Given the description of an element on the screen output the (x, y) to click on. 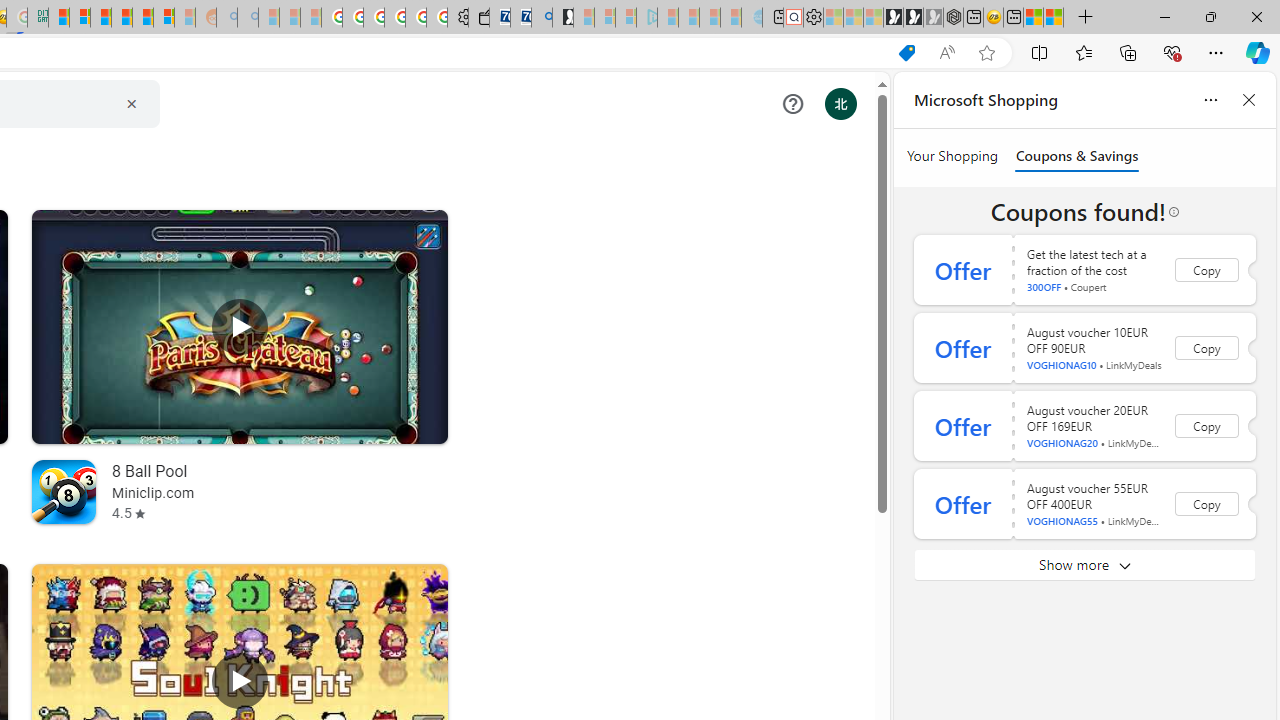
Minimize (1164, 16)
Cheap Car Rentals - Save70.com (520, 17)
Kinda Frugal - MSN (143, 17)
This site has coupons! Shopping in Microsoft Edge (906, 53)
Microsoft account | Privacy - Sleeping (625, 17)
Help Center (792, 103)
New Tab (1085, 17)
